Given the description of an element on the screen output the (x, y) to click on. 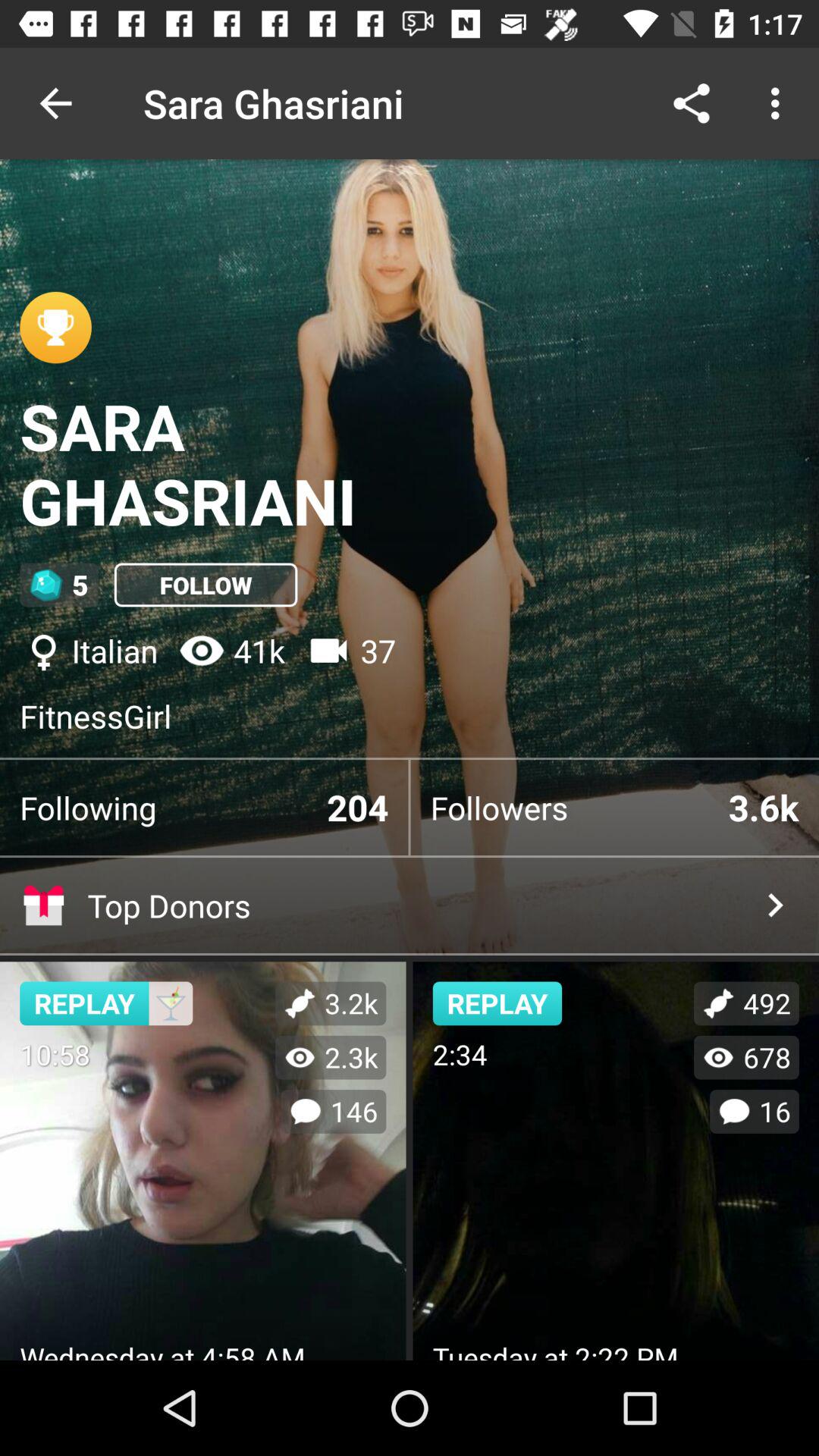
open icon to the right of the sara ghasriani icon (691, 103)
